Given the description of an element on the screen output the (x, y) to click on. 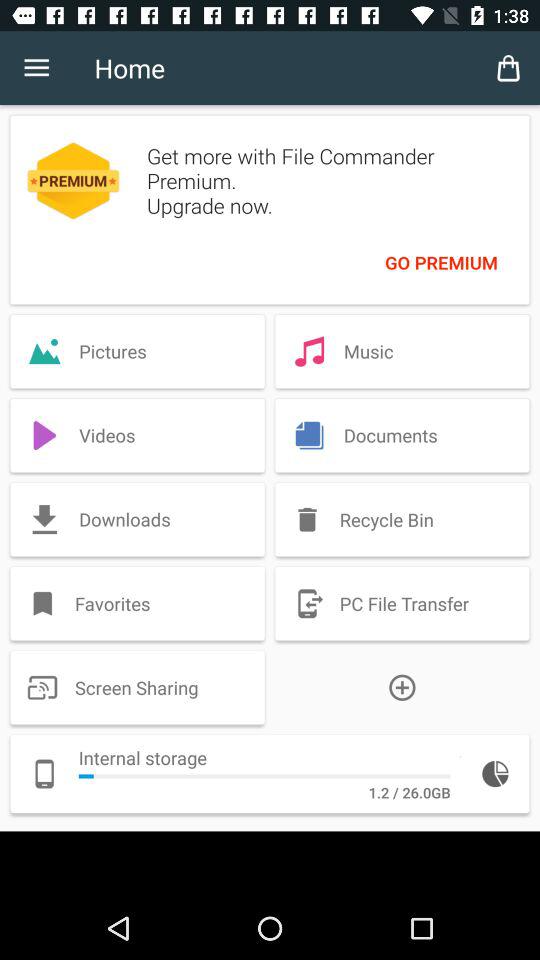
click item next to home item (508, 67)
